Given the description of an element on the screen output the (x, y) to click on. 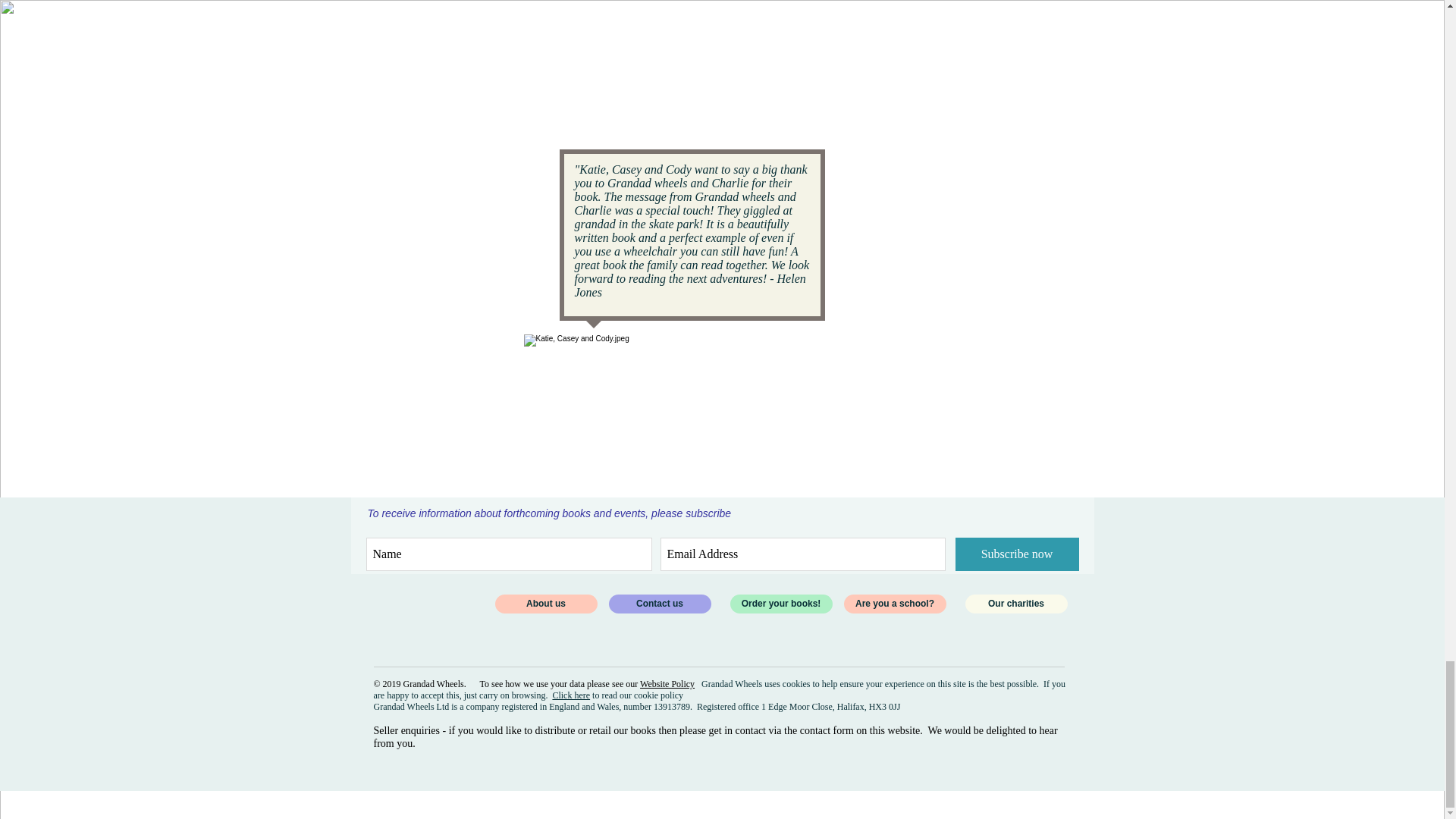
Contact us (659, 603)
Click here (570, 695)
Subscribe now (1016, 553)
Order your books! (780, 603)
Are you a school? (893, 603)
Website Policy (667, 683)
About us (545, 603)
Our charities (1015, 603)
